Given the description of an element on the screen output the (x, y) to click on. 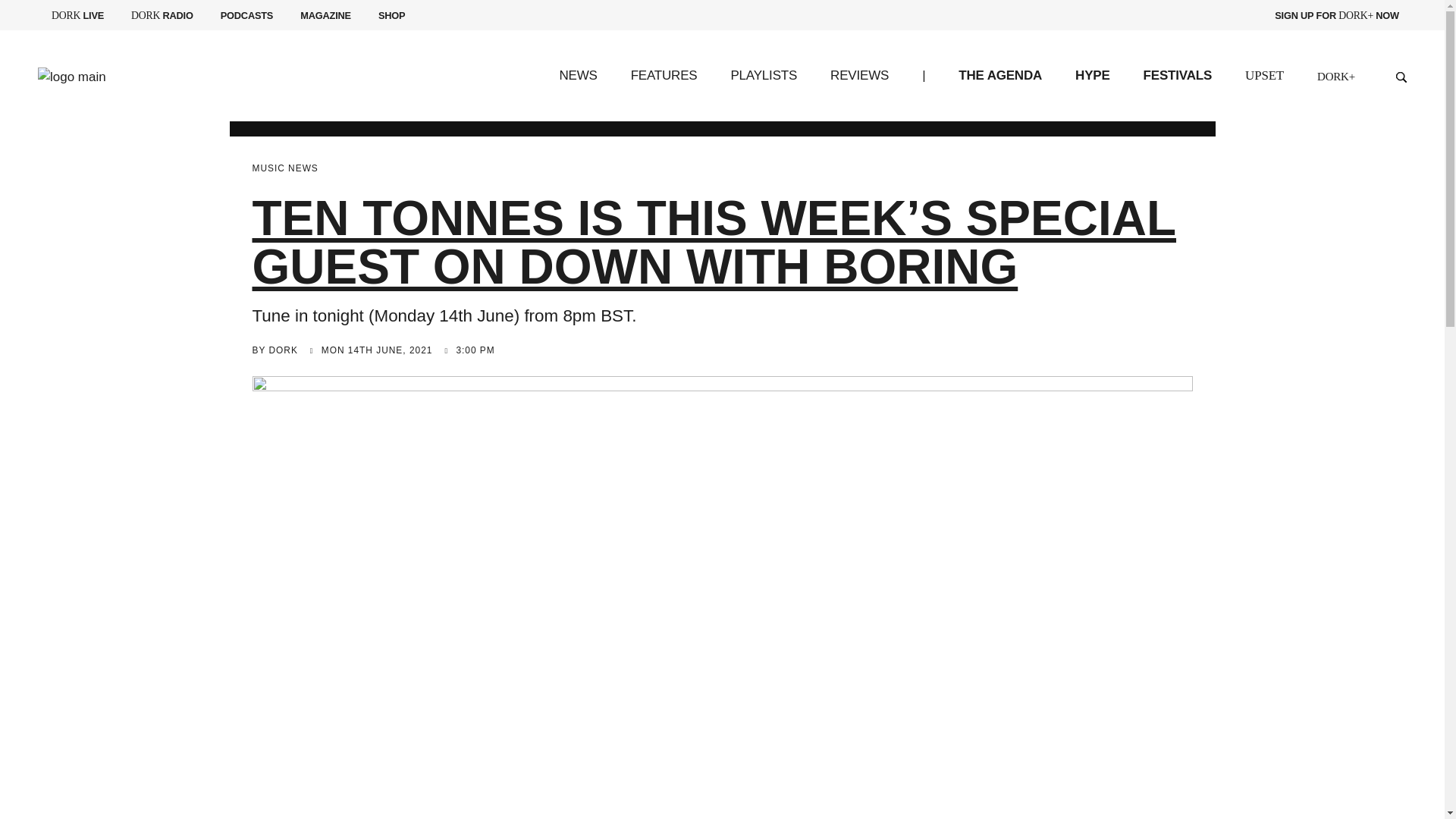
SHOP (391, 15)
FESTIVALS (1177, 75)
MAGAZINE (325, 15)
THE AGENDA (999, 75)
PLAYLISTS (763, 75)
PODCASTS (161, 15)
FEATURES (77, 15)
